Given the description of an element on the screen output the (x, y) to click on. 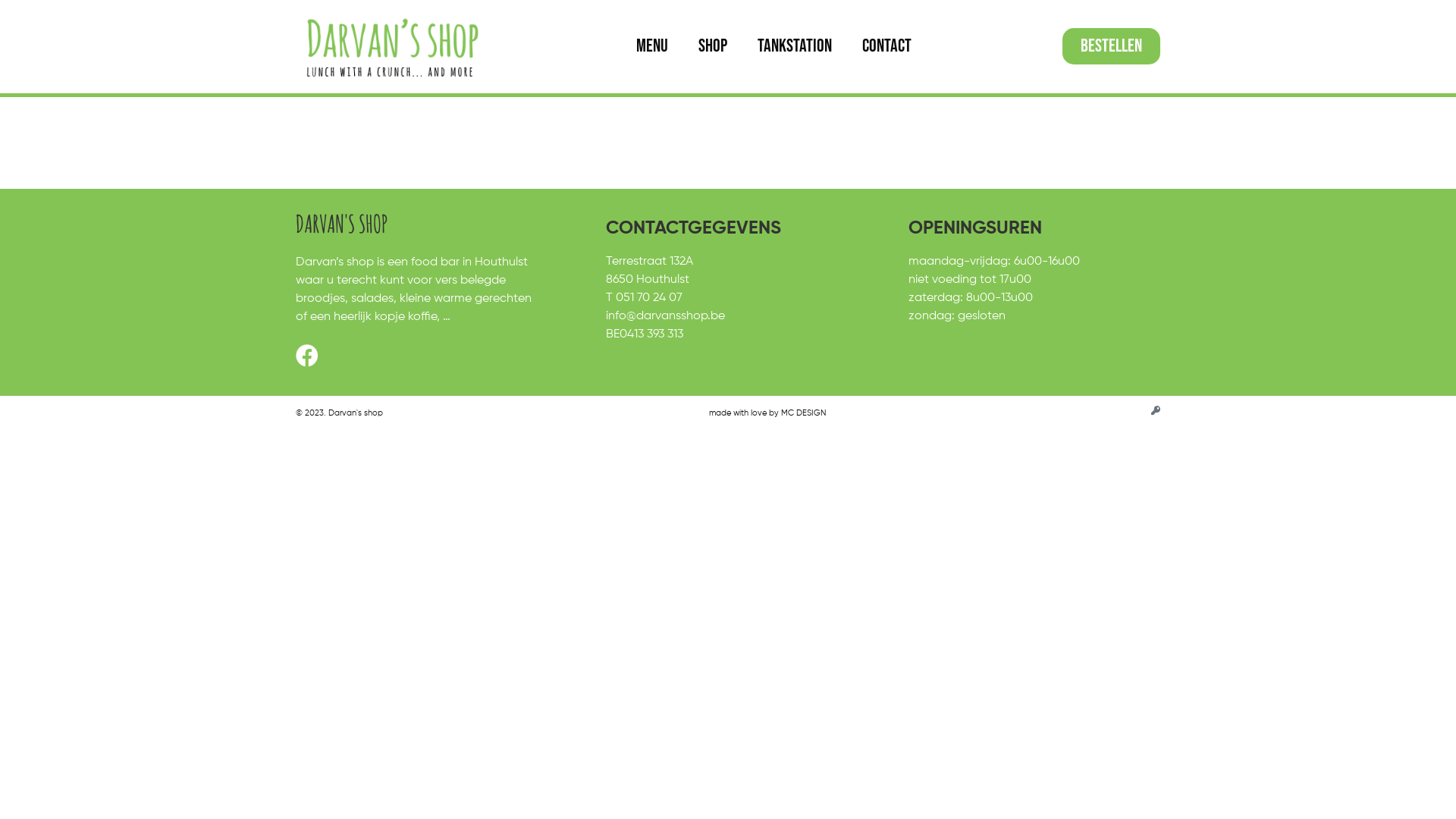
made with love by MC DESIGN Element type: text (766, 412)
SHOP Element type: text (712, 45)
BESTELLEN Element type: text (1111, 46)
MENU Element type: text (652, 45)
CONTACT Element type: text (886, 45)
TANKSTATION Element type: text (794, 45)
